Given the description of an element on the screen output the (x, y) to click on. 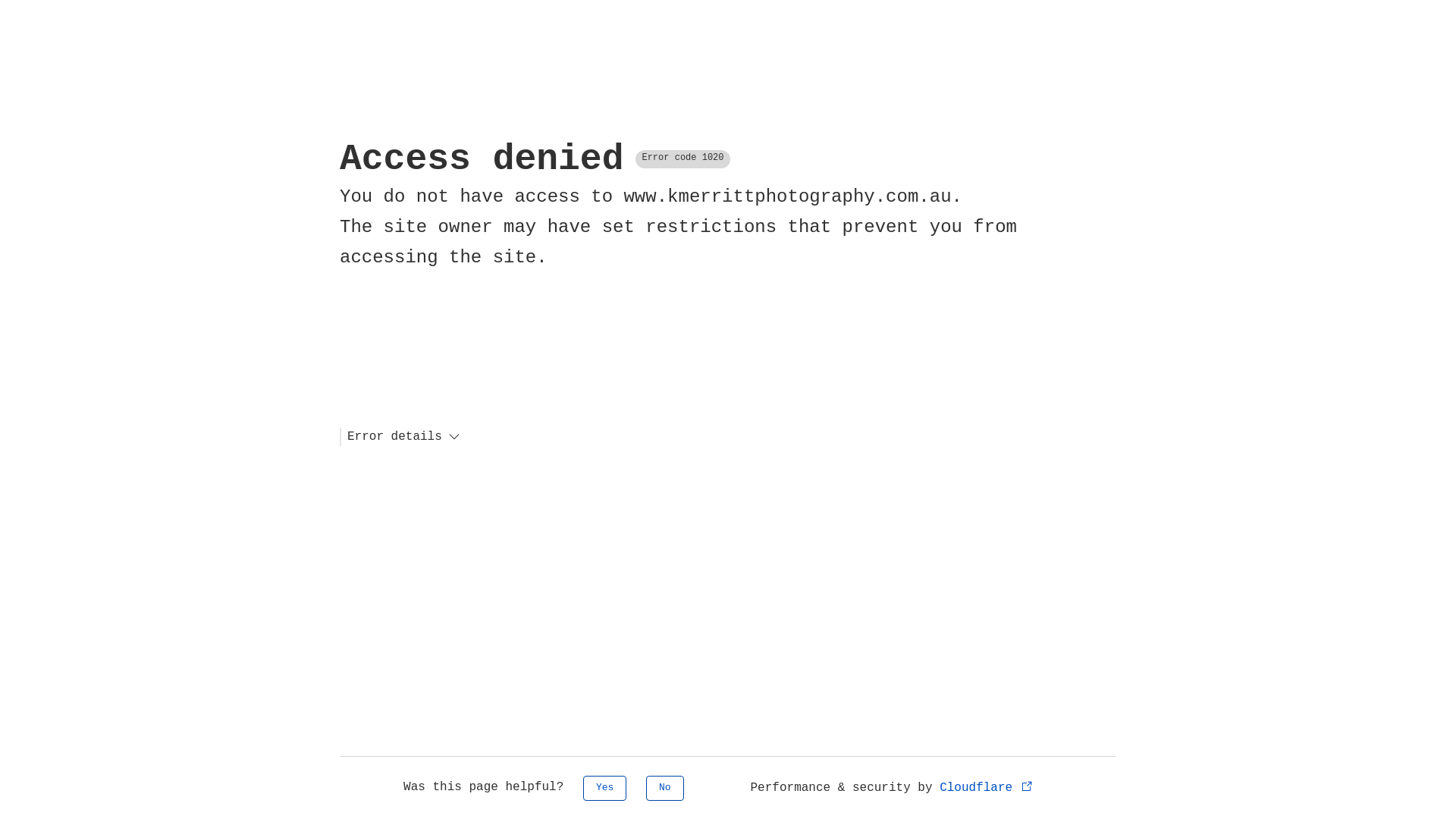
No Element type: text (665, 787)
Opens in new tab Element type: hover (1027, 785)
Cloudflare Element type: text (986, 787)
Yes Element type: text (604, 787)
